Given the description of an element on the screen output the (x, y) to click on. 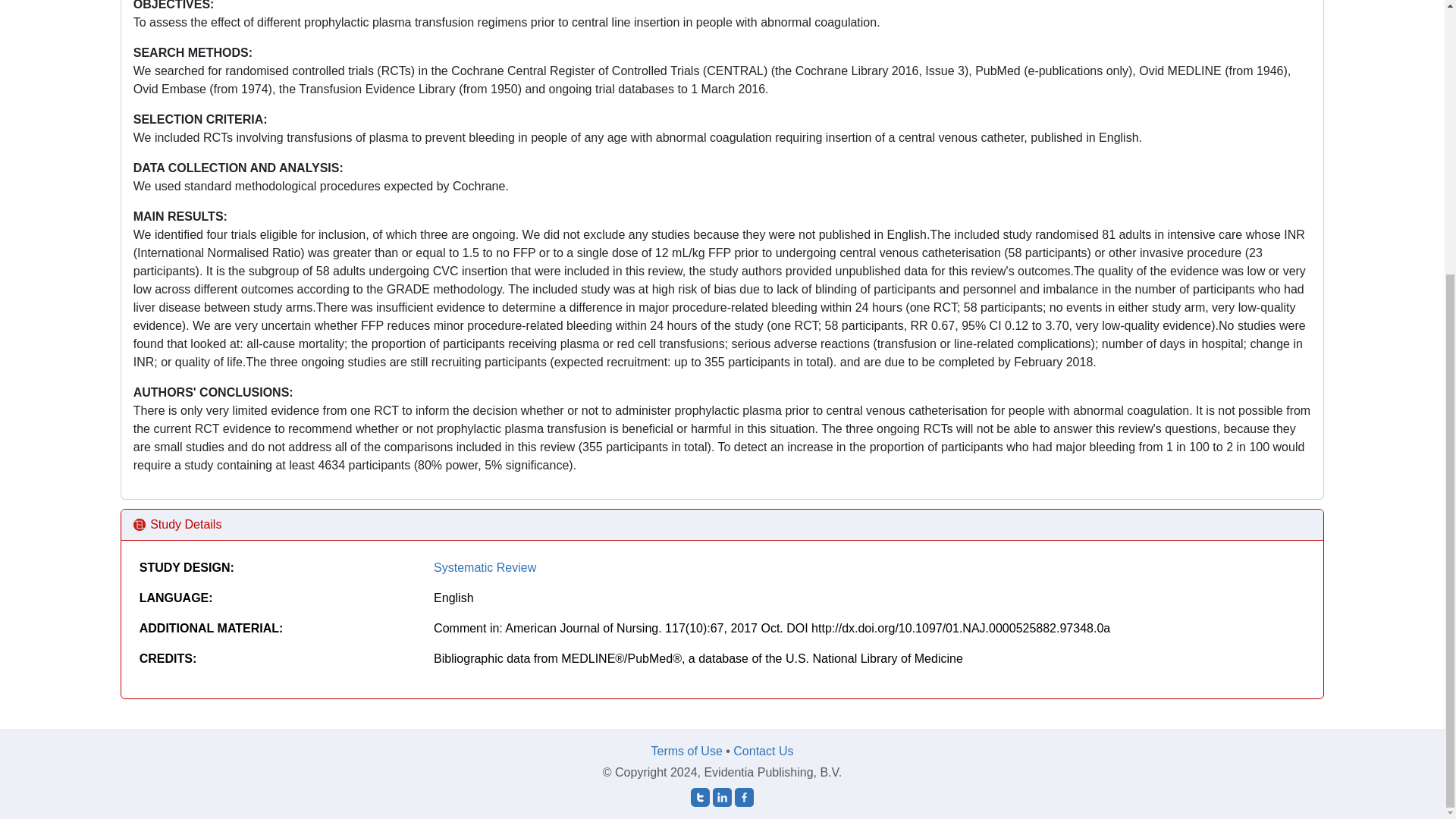
Follow us on Twitter (700, 796)
Systematic Review (484, 567)
Contact Us (763, 750)
Follow us on LinkedIn (722, 796)
Logo of Transfusion Evidence Library (139, 524)
Terms of Use (686, 750)
Follow us on Facebook (744, 796)
